Given the description of an element on the screen output the (x, y) to click on. 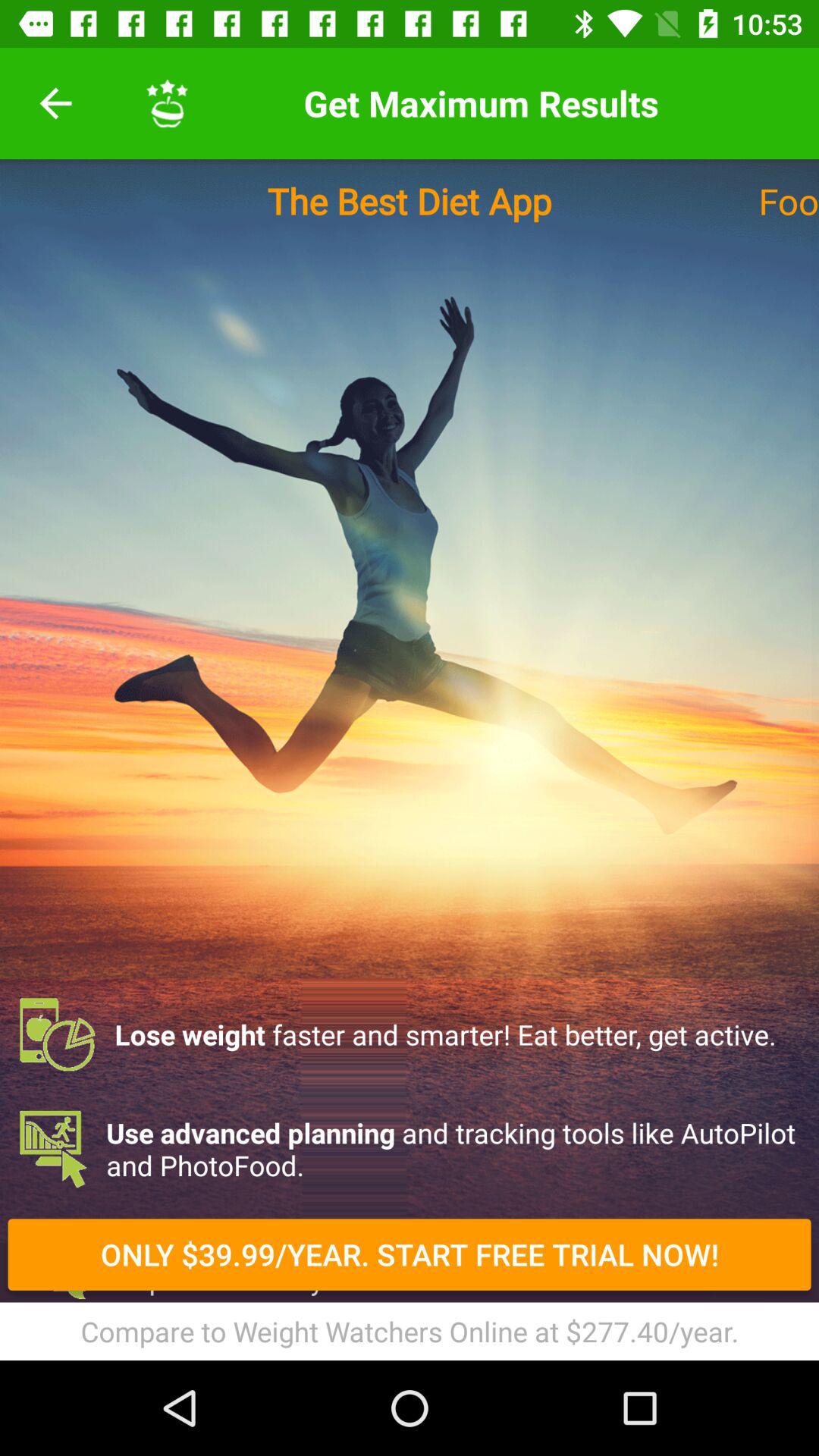
click item below the use advanced planning (409, 1262)
